Given the description of an element on the screen output the (x, y) to click on. 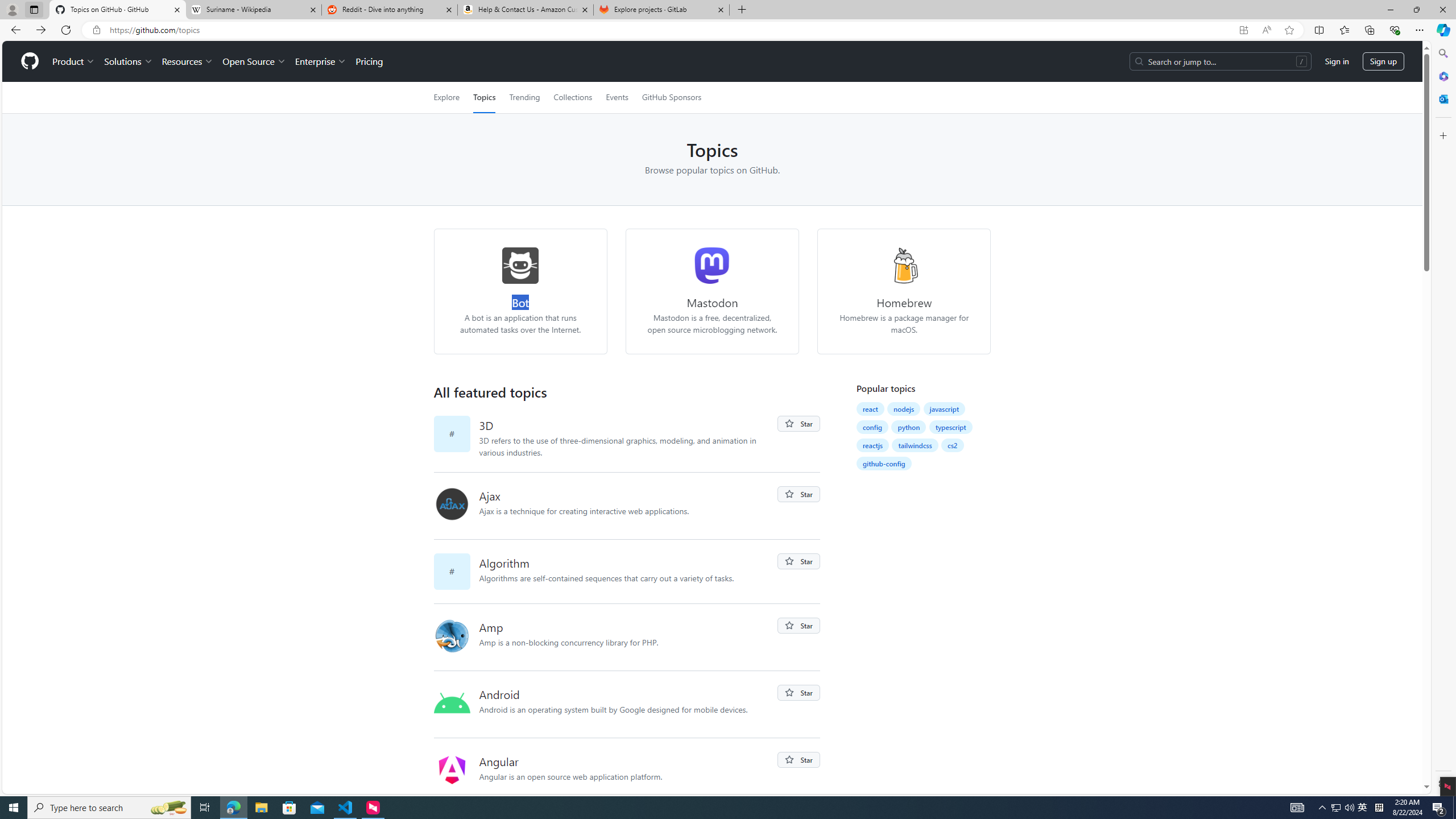
Open Source (254, 60)
Enterprise (319, 60)
Resources (187, 60)
Solutions (128, 60)
Pricing (368, 60)
Angular Angular is an open source web application platform. (628, 771)
homebrew Homebrew Homebrew is a package manager for macOS. (903, 291)
Amp Amp is a non-blocking concurrency library for PHP. (628, 636)
Side bar (1443, 418)
